Given the description of an element on the screen output the (x, y) to click on. 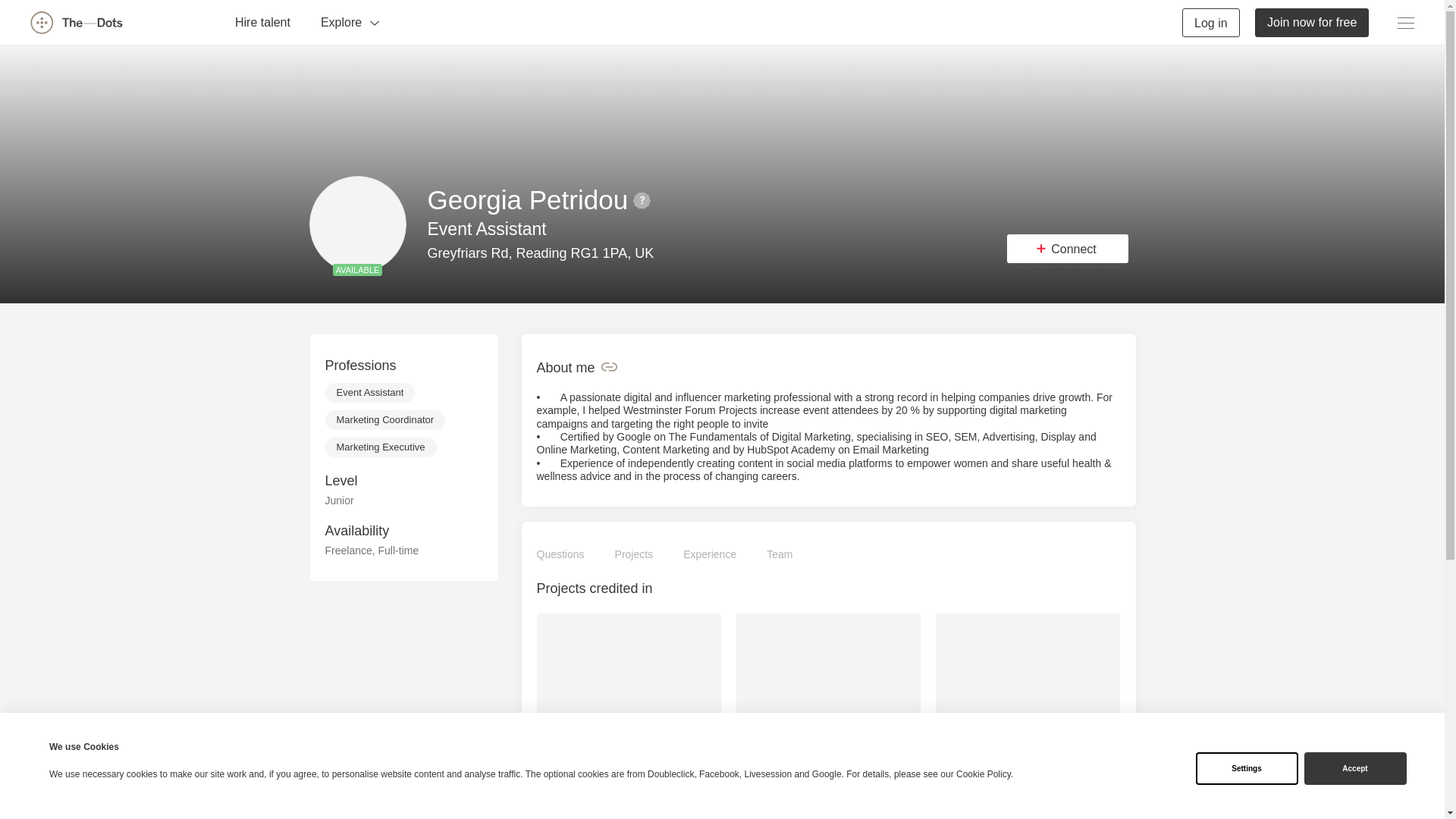
Log in (1211, 21)
Experience (709, 554)
Projects (633, 554)
Explore (350, 21)
Team (779, 554)
Connect (1067, 248)
Questions (561, 554)
Hire talent (261, 21)
Join now for free (1311, 21)
